Given the description of an element on the screen output the (x, y) to click on. 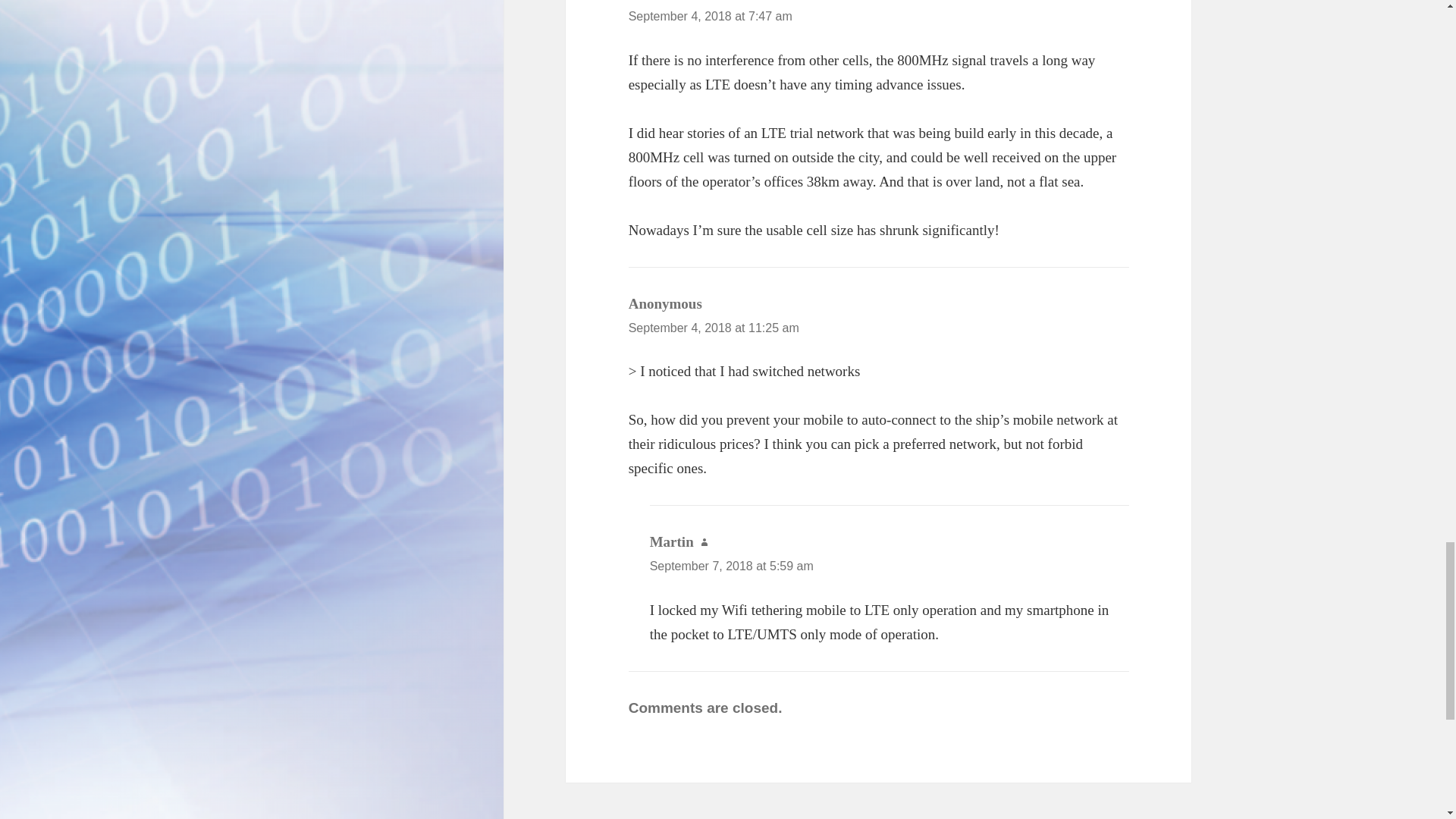
September 4, 2018 at 7:47 am (710, 15)
September 4, 2018 at 11:25 am (713, 327)
September 7, 2018 at 5:59 am (731, 565)
